Given the description of an element on the screen output the (x, y) to click on. 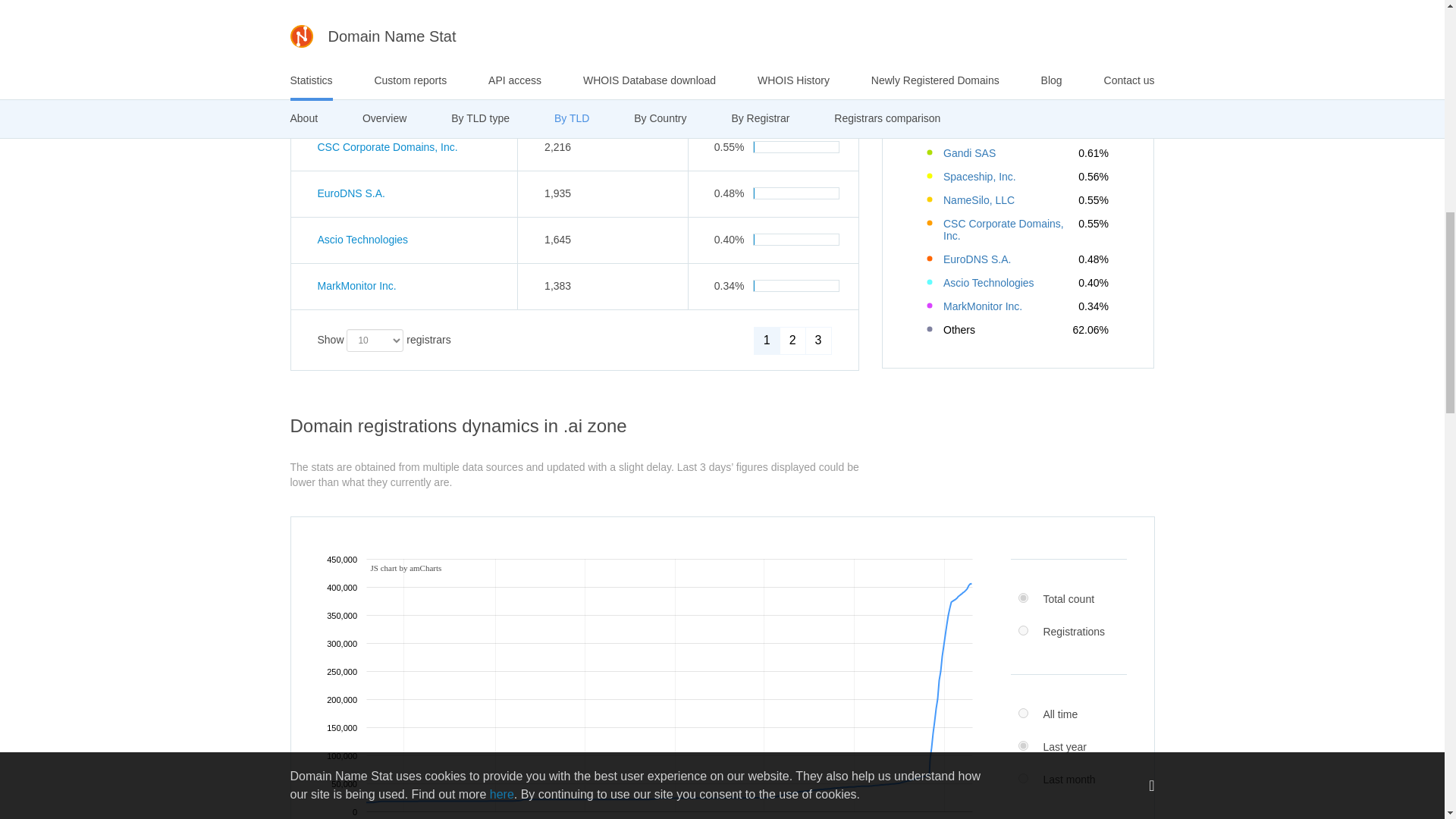
2 (792, 340)
Gandi SAS (343, 8)
total (1022, 597)
registrations (1022, 630)
JavaScript charts (405, 568)
EuroDNS S.A. (350, 193)
all (1022, 713)
Ascio Technologies (362, 239)
CSC Corporate Domains, Inc. (387, 146)
1 (767, 340)
NameSilo, LLC (352, 101)
Spaceship, Inc. (353, 54)
MarkMonitor Inc. (356, 285)
lastY (1022, 746)
